Given the description of an element on the screen output the (x, y) to click on. 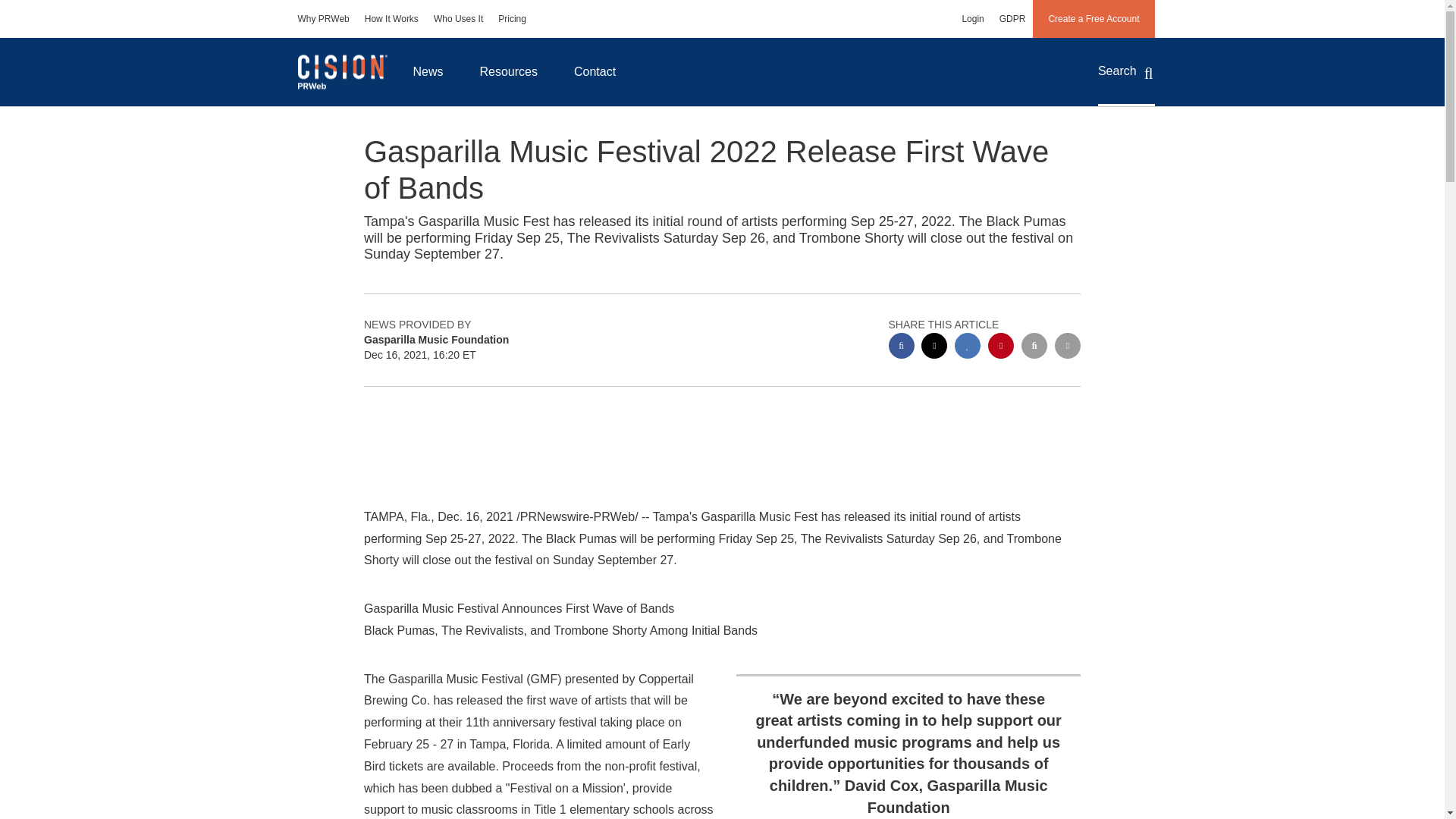
Pricing (512, 18)
How It Works (391, 18)
Contact (594, 71)
Why PRWeb (322, 18)
Resources (508, 71)
Login (972, 18)
GDPR (1012, 18)
News (427, 71)
Create a Free Account (1093, 18)
Who Uses It (458, 18)
